Given the description of an element on the screen output the (x, y) to click on. 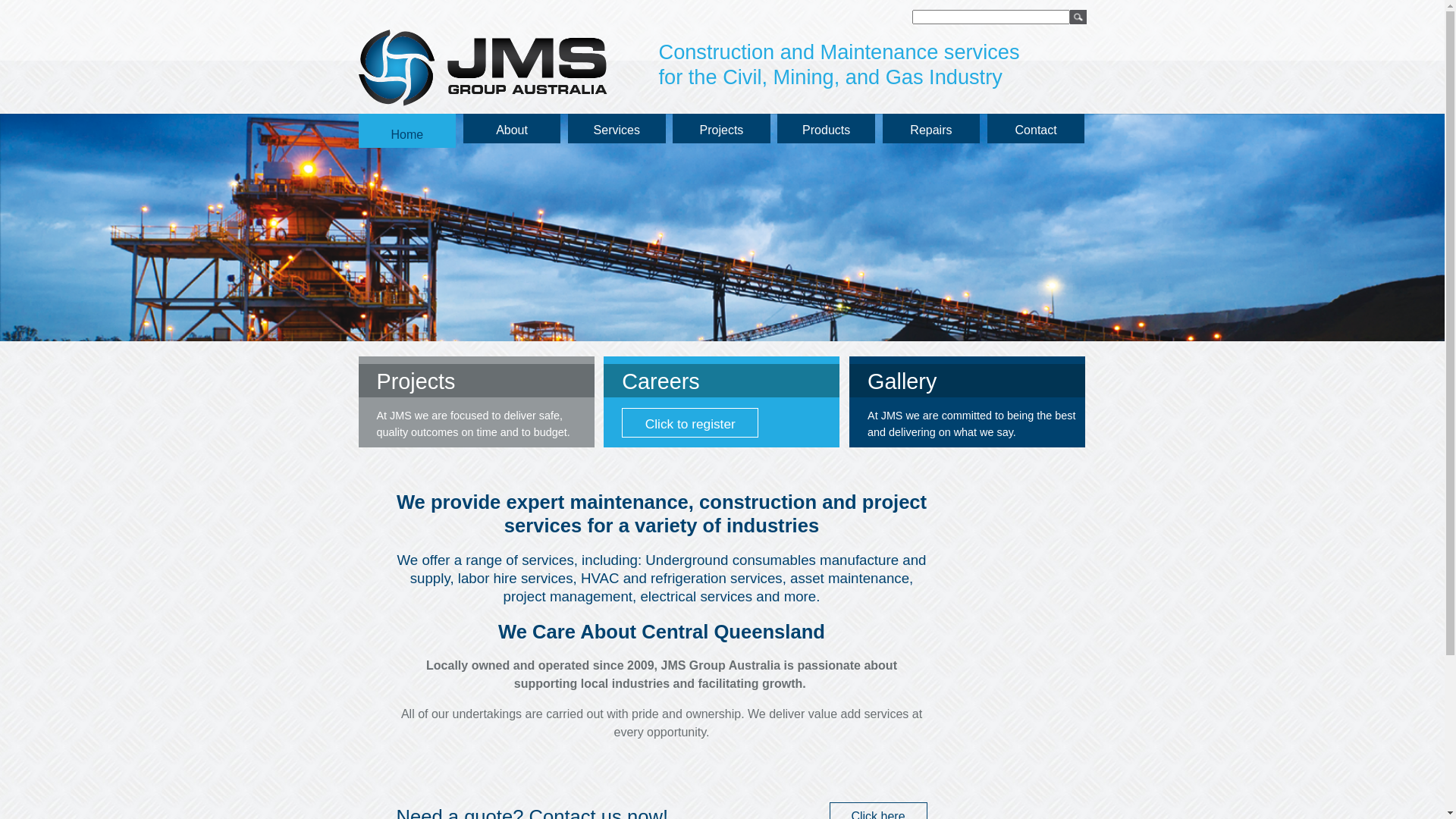
Repairs Element type: text (931, 128)
Products Element type: text (826, 128)
Home Element type: text (406, 130)
Services Element type: text (616, 128)
Contact Element type: text (1036, 128)
Projects Element type: text (721, 128)
Click to register Element type: text (689, 422)
About Element type: text (512, 128)
